Given the description of an element on the screen output the (x, y) to click on. 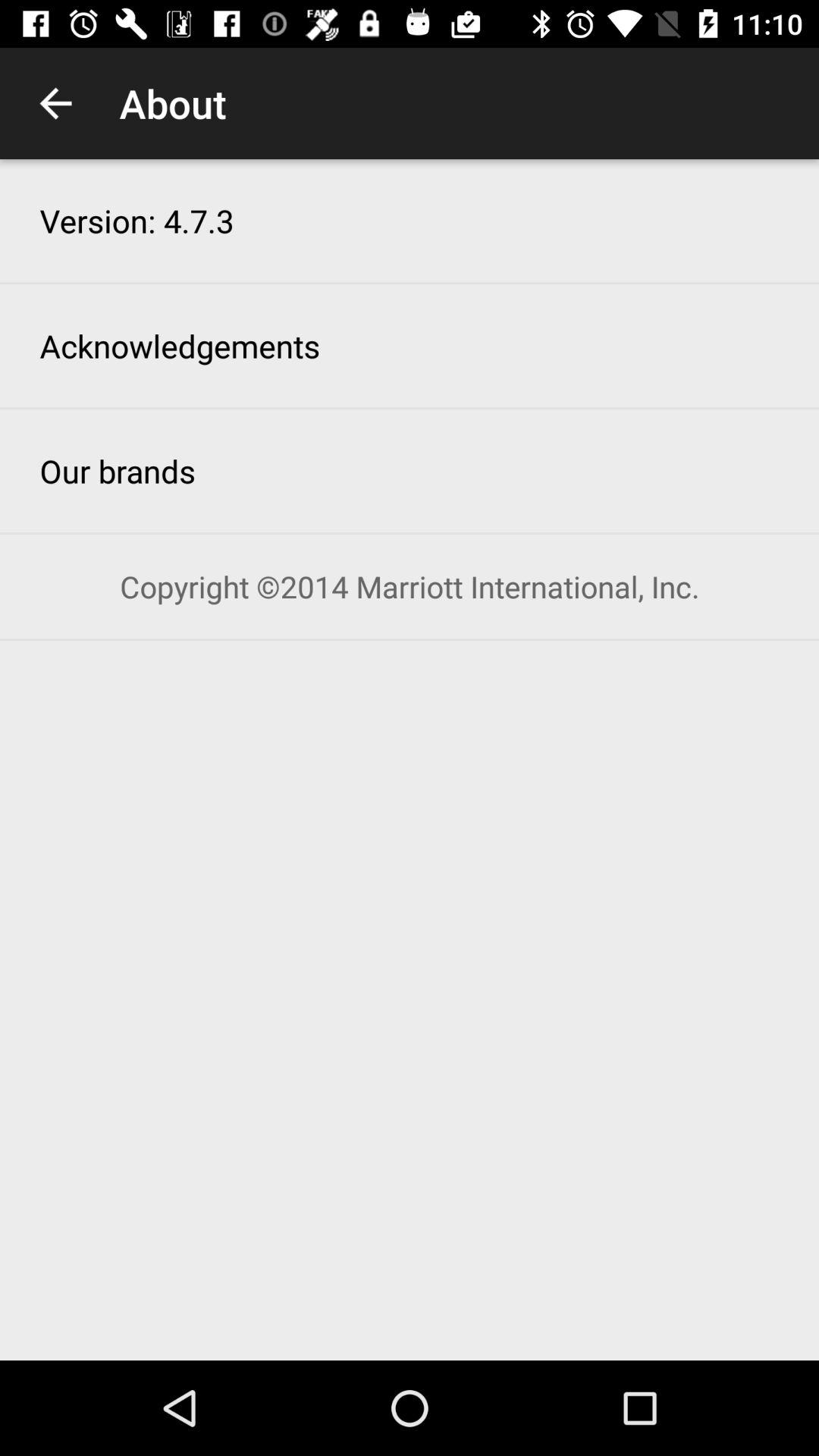
turn on copyright 2014 marriott (409, 586)
